Given the description of an element on the screen output the (x, y) to click on. 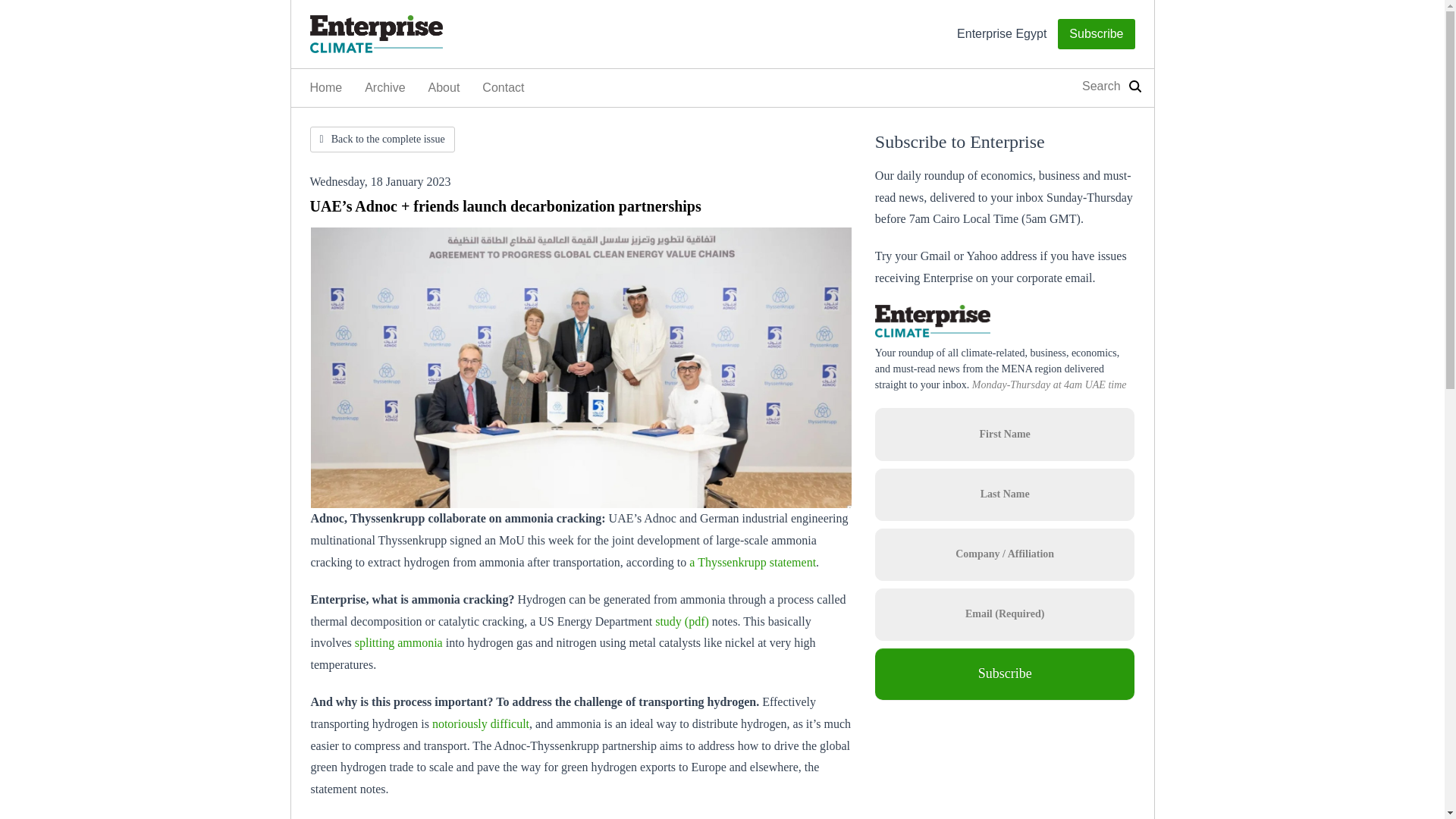
Home (325, 87)
Enterprise Egypt (1001, 34)
splitting ammonia (398, 642)
a Thyssenkrupp statement (751, 562)
notoriously difficult (480, 723)
Contact (502, 87)
Back to the complete issue (381, 139)
Subscribe (1005, 674)
About (443, 87)
Subscribe (1096, 33)
Archive (384, 87)
